Given the description of an element on the screen output the (x, y) to click on. 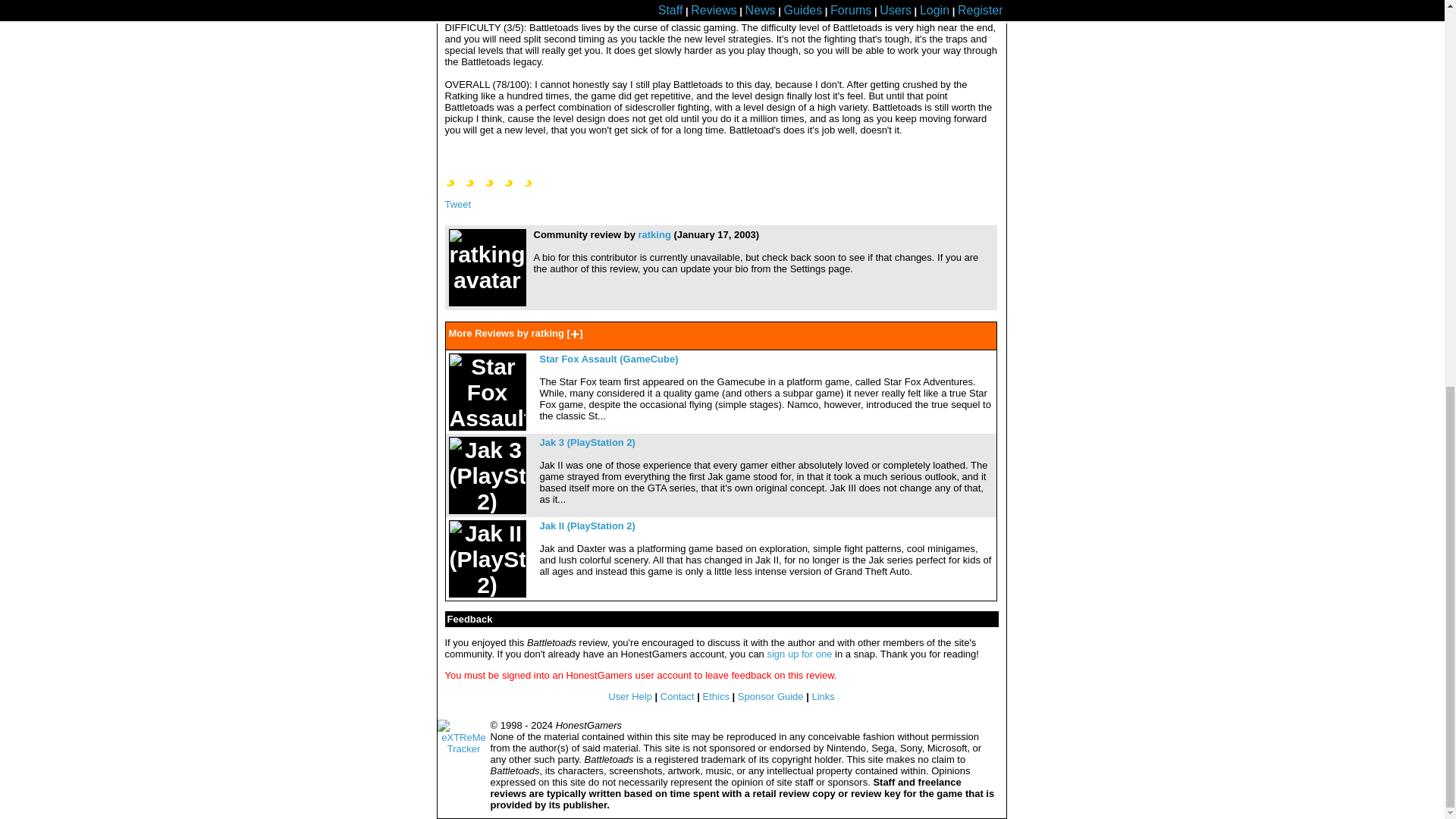
Contact (677, 696)
ratking (653, 234)
User Help (630, 696)
sign up for one (799, 654)
Tweet (457, 204)
